Given the description of an element on the screen output the (x, y) to click on. 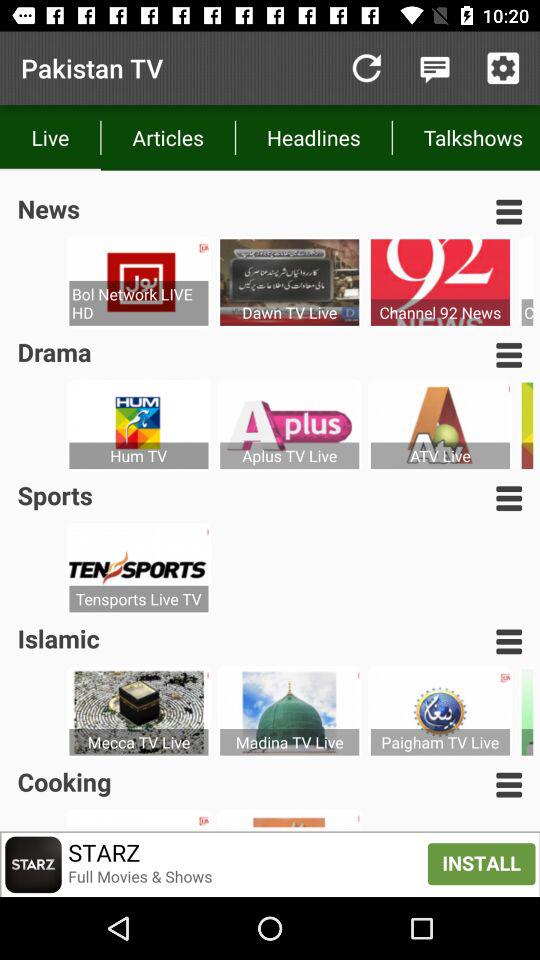
choose bol network live icon (138, 303)
